Given the description of an element on the screen output the (x, y) to click on. 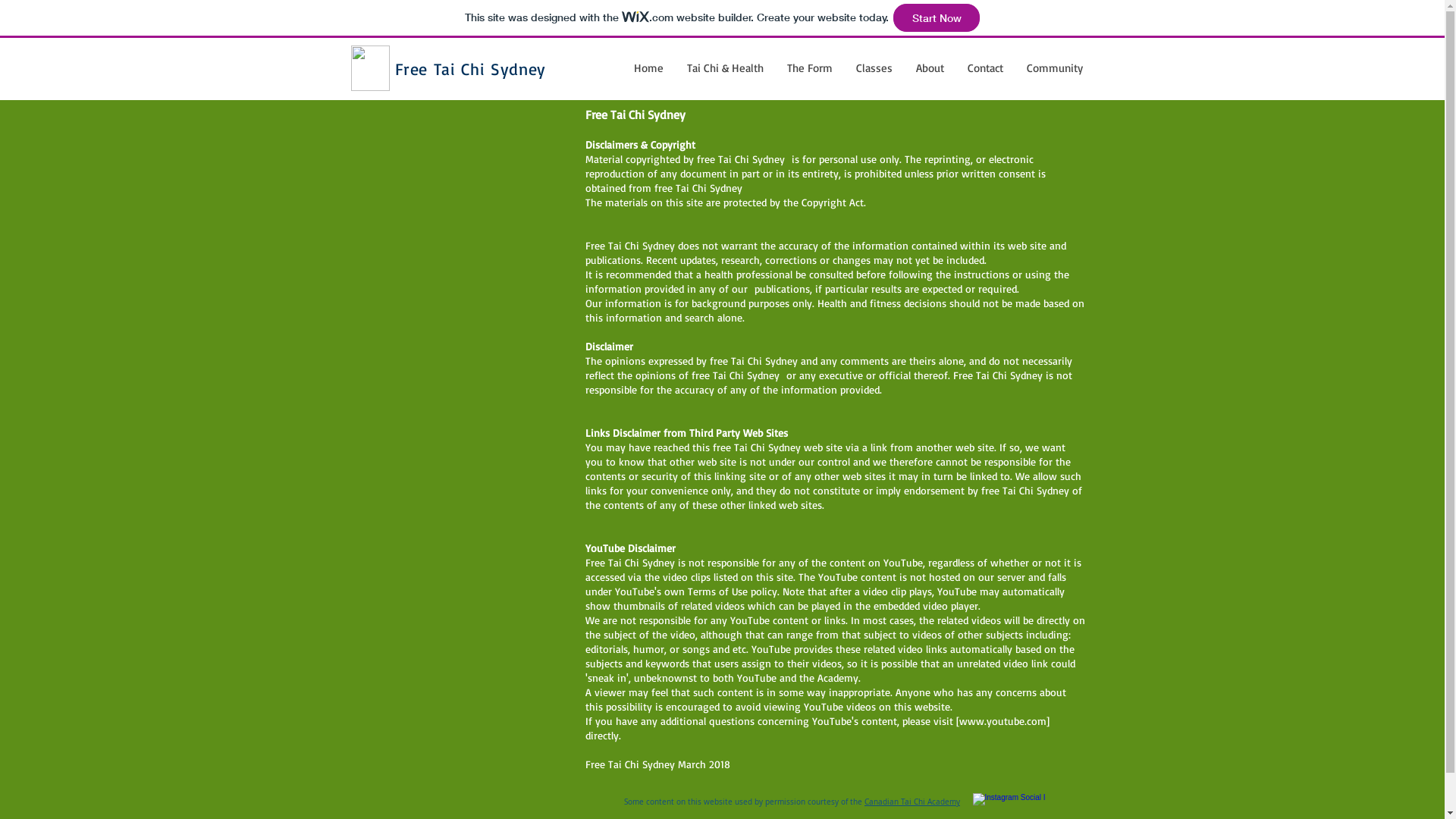
Community Element type: text (1054, 67)
www.youtube.com Element type: text (1001, 720)
The Form Element type: text (809, 67)
Tai Chi & Health Element type: text (724, 67)
Free Tai Chi Sydney Element type: text (470, 68)
Contact Element type: text (984, 67)
About Element type: text (929, 67)
Home Element type: text (647, 67)
Classes Element type: text (873, 67)
Canadian Tai Chi Academy Element type: text (912, 801)
